Given the description of an element on the screen output the (x, y) to click on. 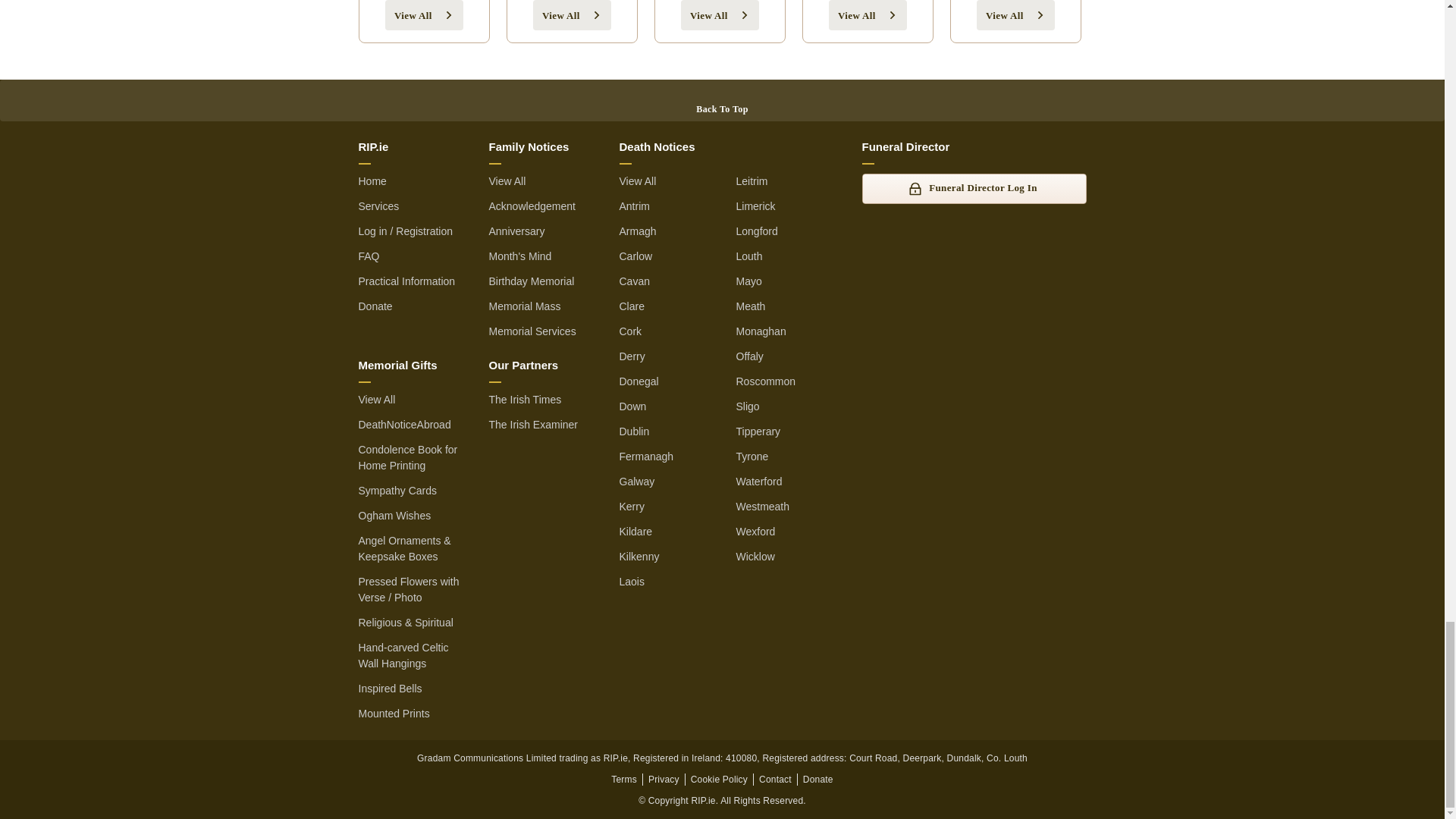
Terms (624, 779)
Privacy (663, 779)
Contact (775, 779)
Donate (817, 779)
Cookie Policy (719, 779)
